Given the description of an element on the screen output the (x, y) to click on. 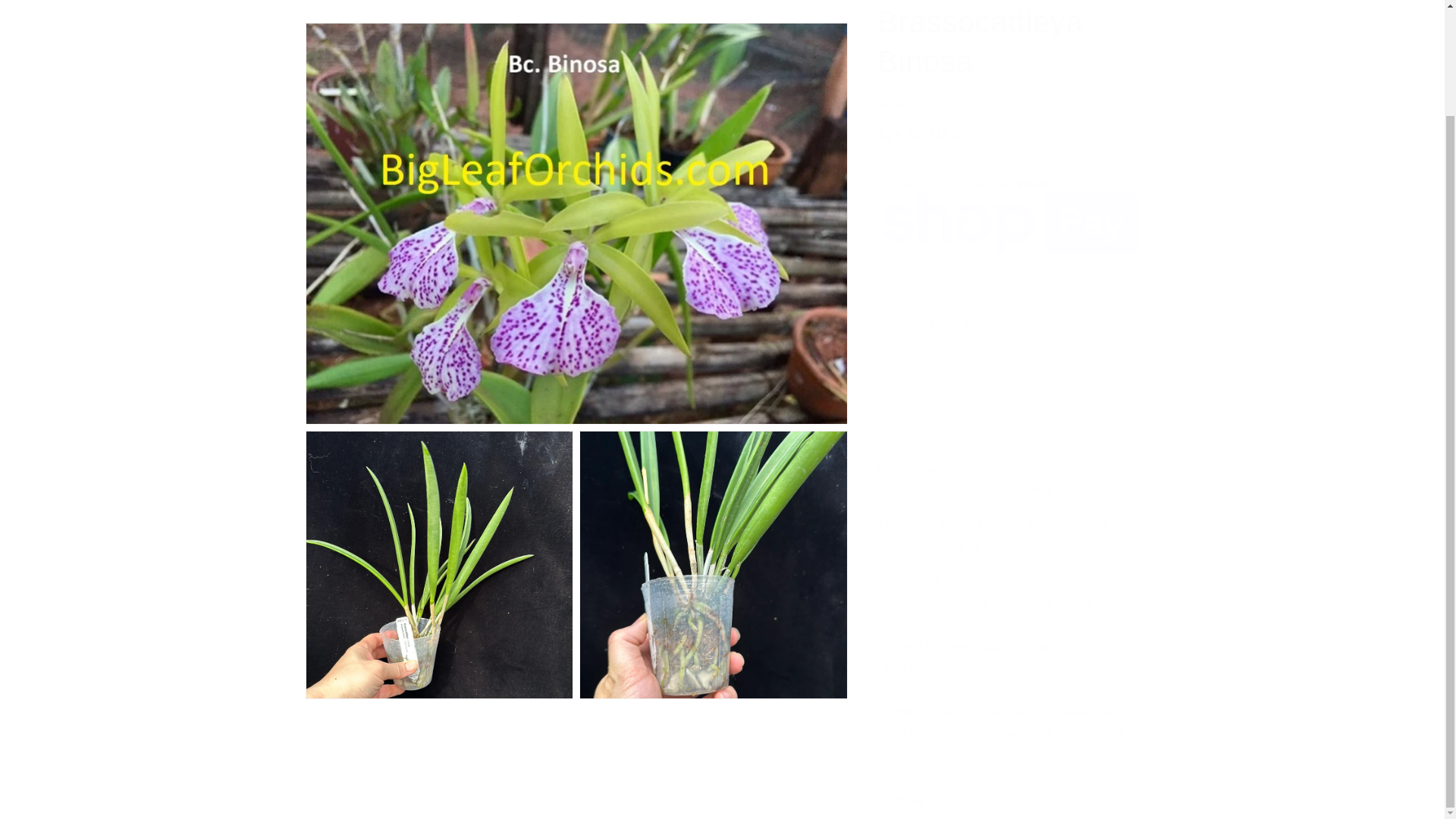
1 (931, 312)
Open media 2 in modal (438, 508)
Open media 3 in modal (713, 508)
